Given the description of an element on the screen output the (x, y) to click on. 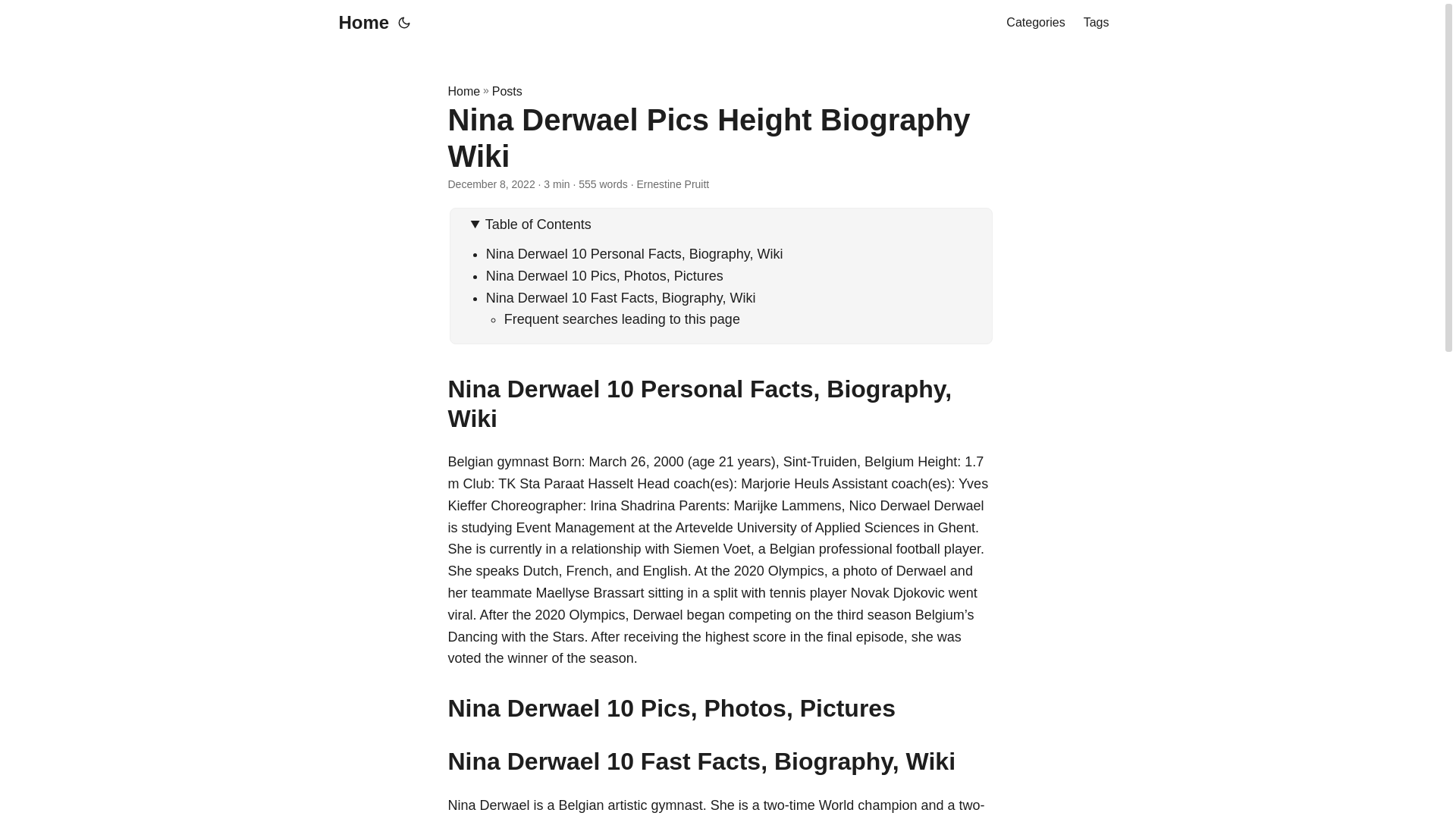
Posts (507, 91)
Nina Derwael 10 Personal Facts, Biography, Wiki (634, 253)
Home (359, 22)
Categories (1035, 22)
Home (463, 91)
Categories (1035, 22)
Nina Derwael 10 Pics, Photos, Pictures (604, 275)
Nina Derwael 10 Fast Facts, Biography, Wiki (620, 297)
Frequent searches leading to this page (621, 319)
